Given the description of an element on the screen output the (x, y) to click on. 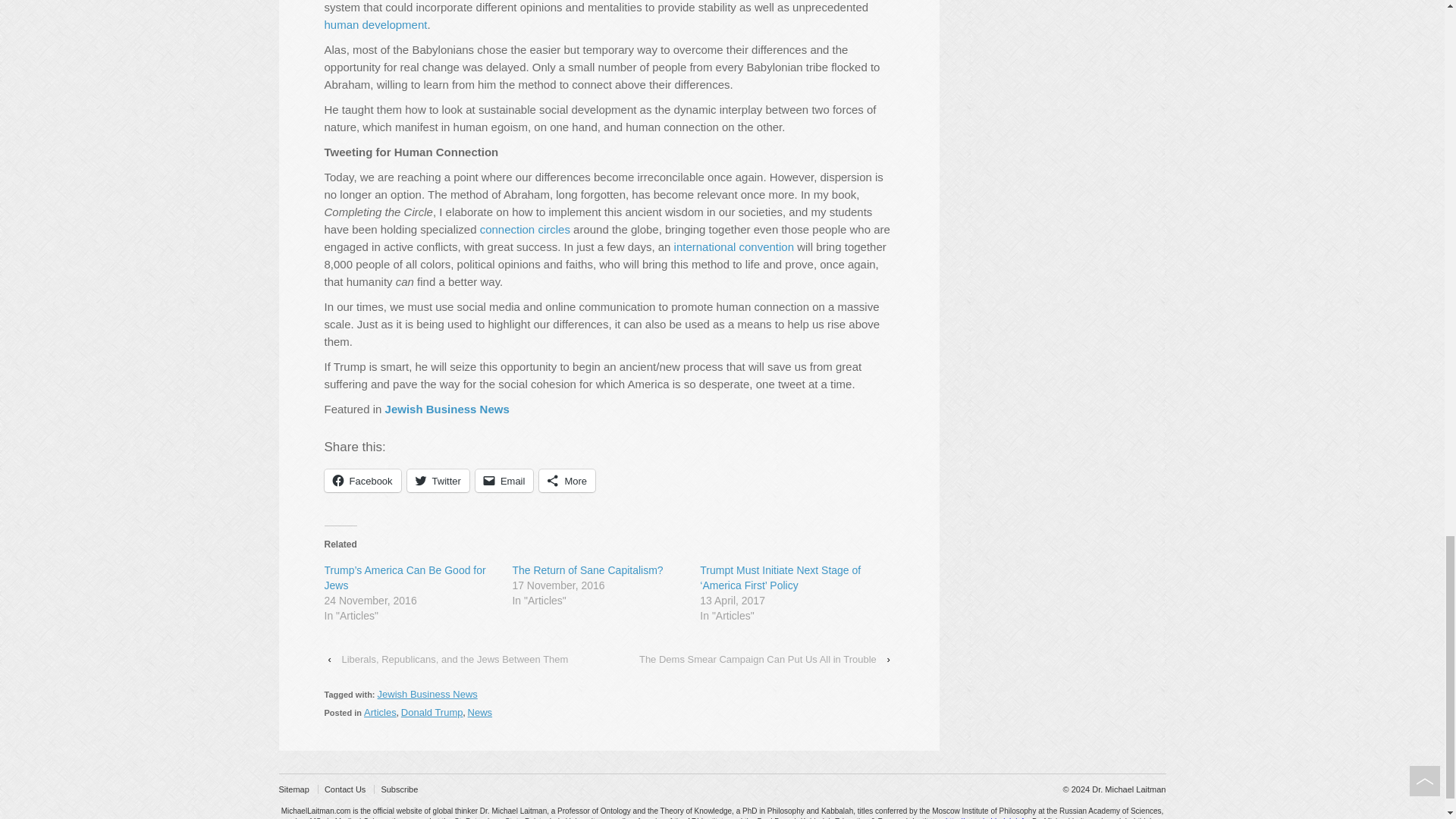
Click to email a link to a friend (505, 480)
The Return of Sane Capitalism? (587, 570)
Click to share on Twitter (437, 480)
More (566, 480)
connection circles (525, 228)
human development (376, 24)
Twitter (437, 480)
Facebook (362, 480)
Email (505, 480)
Liberals, Republicans, and the Jews Between Them (454, 659)
international convention (733, 246)
Click to share on Facebook (362, 480)
The Return of Sane Capitalism? (587, 570)
Jewish Business News (447, 408)
